Given the description of an element on the screen output the (x, y) to click on. 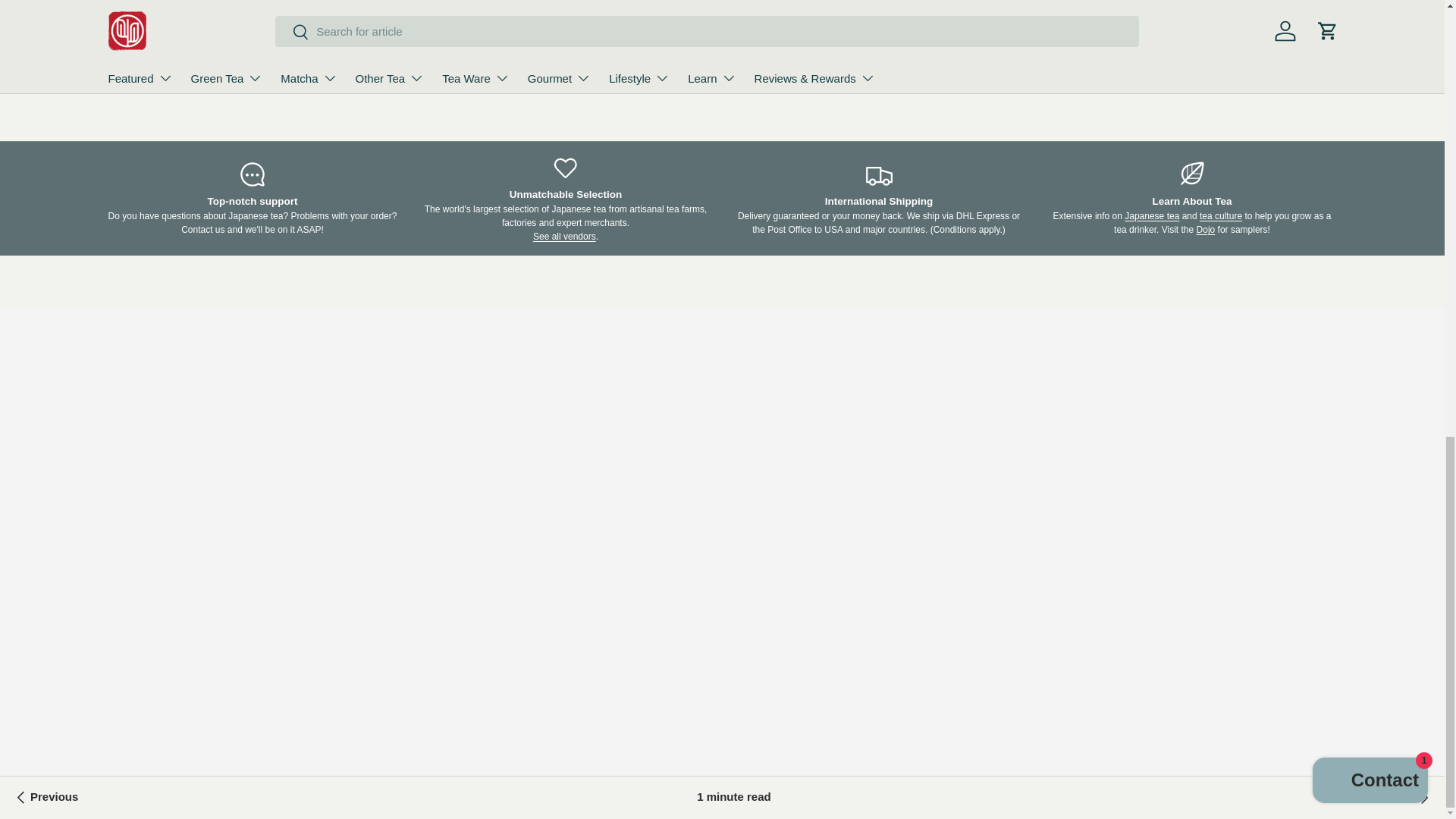
All About Japanese Tea Culture (1220, 215)
Professional's Guide to Japanese Tea (1151, 215)
Tweet on X (505, 21)
Vendors (563, 235)
Share on Facebook (539, 21)
The Yunomi Dojo (1205, 229)
